Given the description of an element on the screen output the (x, y) to click on. 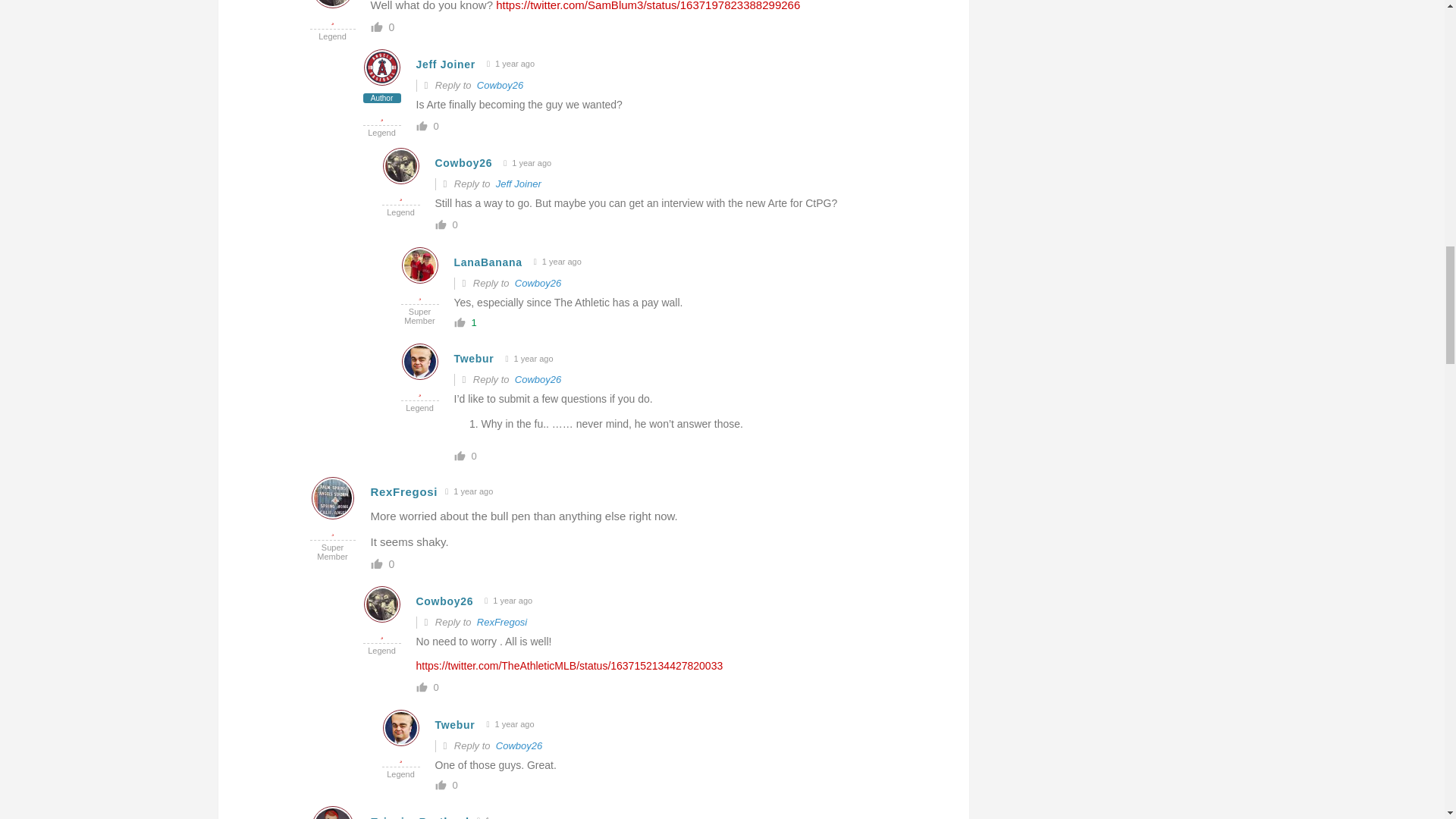
0 (390, 27)
